Given the description of an element on the screen output the (x, y) to click on. 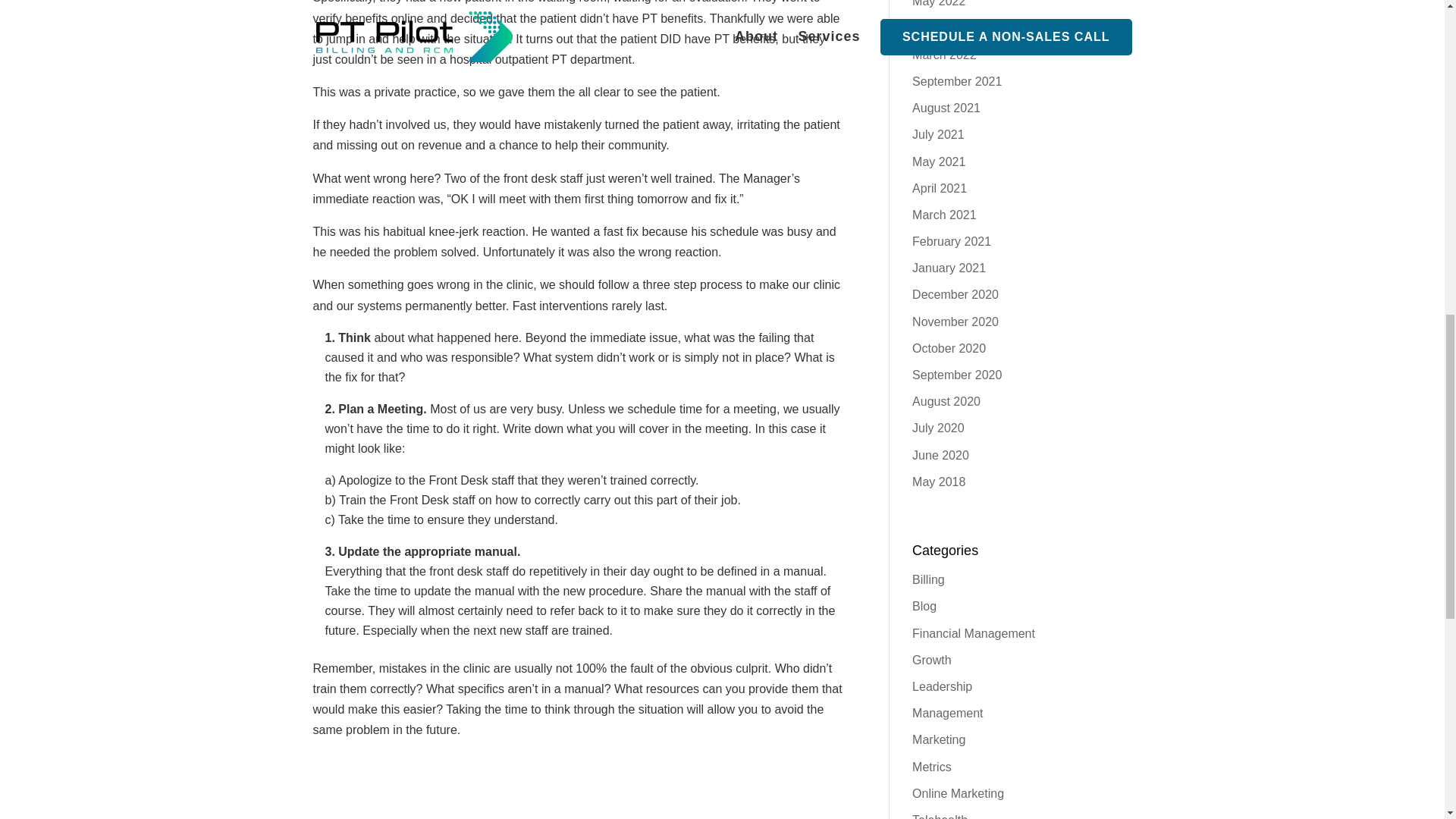
April 2022 (939, 28)
May 2021 (938, 161)
January 2021 (948, 267)
November 2020 (955, 321)
September 2021 (956, 81)
October 2020 (948, 348)
September 2020 (956, 374)
Financial Management (973, 633)
April 2021 (939, 187)
Management (947, 712)
July 2020 (937, 427)
Leadership (942, 686)
December 2020 (955, 294)
May 2022 (938, 3)
July 2021 (937, 133)
